Given the description of an element on the screen output the (x, y) to click on. 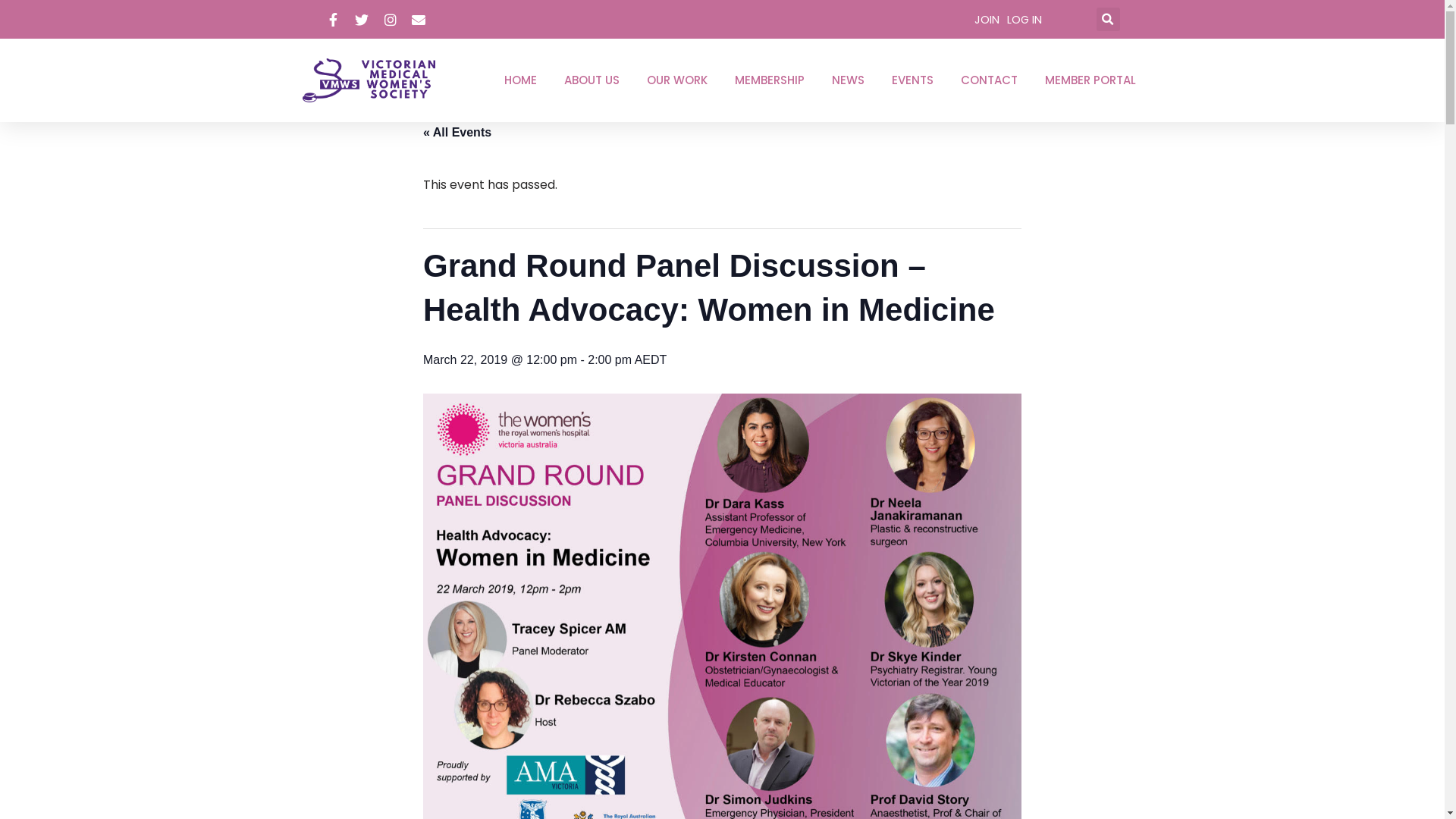
MEMBER PORTAL Element type: text (1090, 80)
CONTACT Element type: text (988, 80)
OUR WORK Element type: text (676, 80)
LOG IN Element type: text (1024, 19)
EVENTS Element type: text (912, 80)
Skip to content Element type: text (11, 31)
NEWS Element type: text (847, 80)
ABOUT US Element type: text (591, 80)
JOIN Element type: text (985, 19)
HOME Element type: text (520, 80)
MEMBERSHIP Element type: text (769, 80)
